Given the description of an element on the screen output the (x, y) to click on. 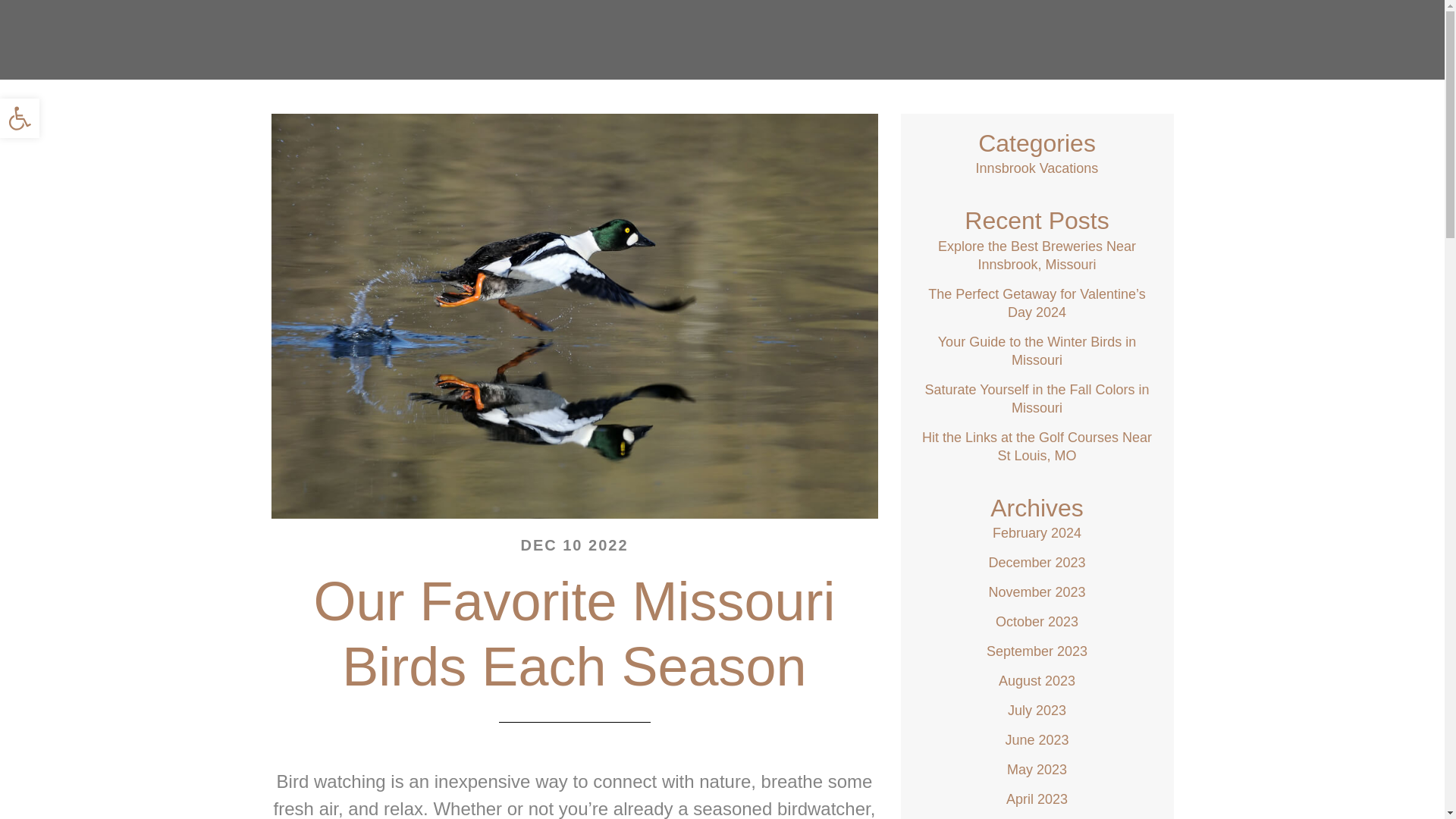
Accessibility Tools (19, 118)
Accessibility Tools (19, 118)
